Given the description of an element on the screen output the (x, y) to click on. 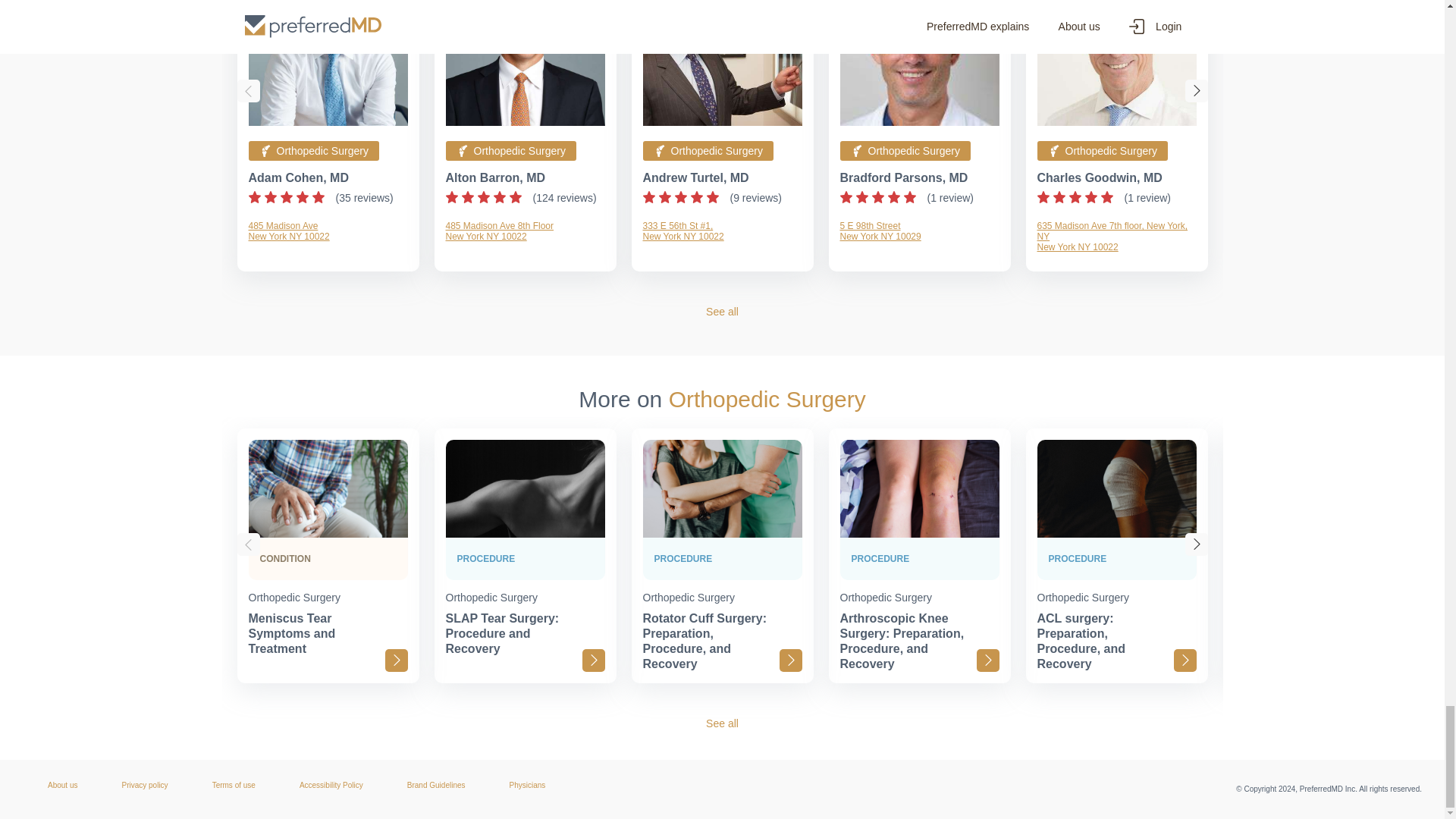
Orthopedic Surgery (510, 150)
Bradford Parsons, MD (904, 177)
Charles Goodwin, MD (1098, 177)
Orthopedic Surgery (1116, 236)
Orthopedic Surgery (919, 230)
Orthopedic Surgery (905, 150)
Adam Cohen, MD (708, 150)
Orthopedic Surgery (1101, 150)
Alton Barron, MD (298, 177)
Previous (313, 150)
Andrew Turtel, MD (495, 177)
